Given the description of an element on the screen output the (x, y) to click on. 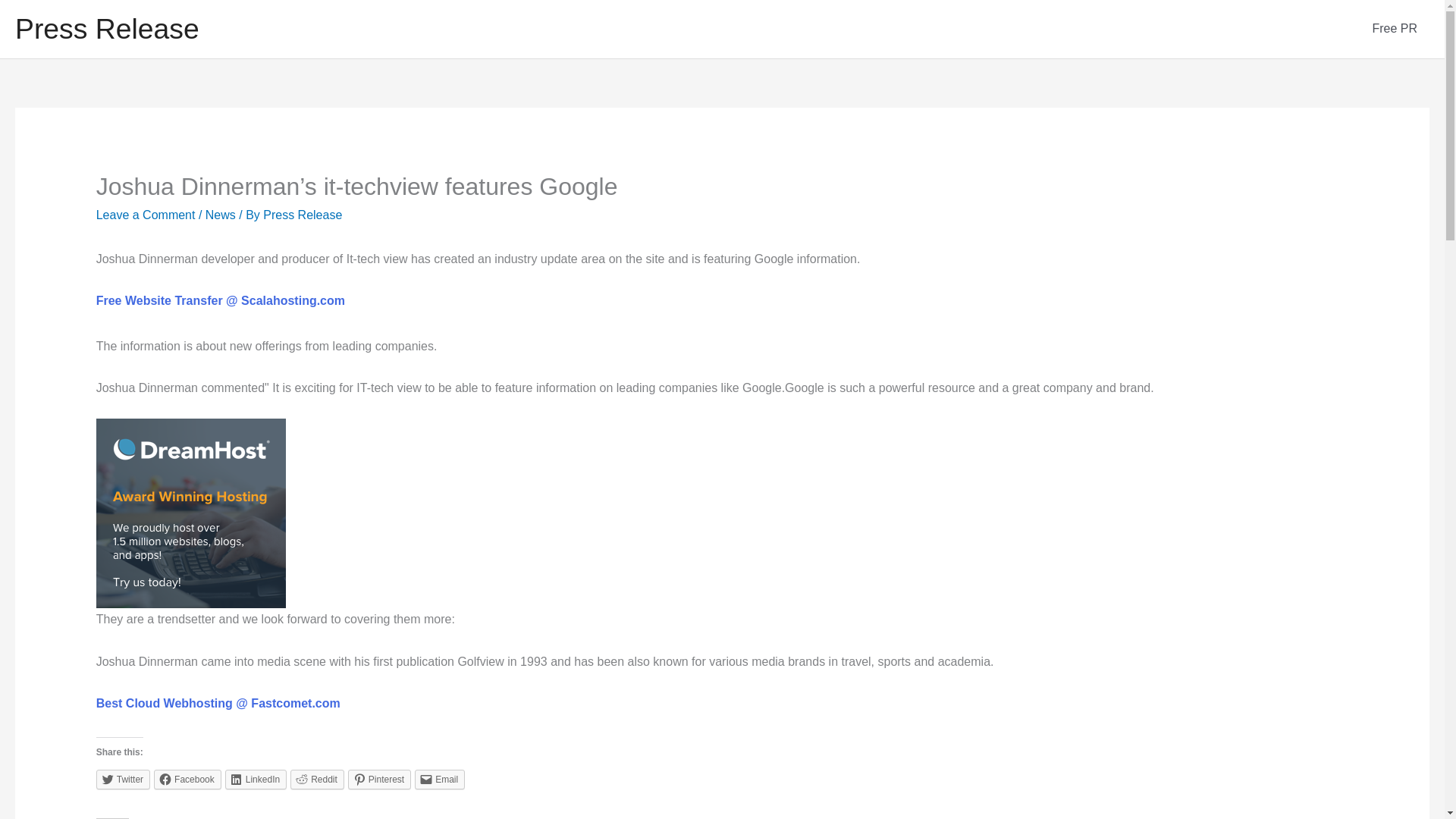
Click to share on Reddit (316, 779)
Press Release (302, 214)
Twitter (122, 779)
Pinterest (378, 779)
Click to share on LinkedIn (255, 779)
Facebook (187, 779)
Reddit (316, 779)
Click to share on Facebook (187, 779)
Leave a Comment (145, 214)
Email (439, 779)
